Given the description of an element on the screen output the (x, y) to click on. 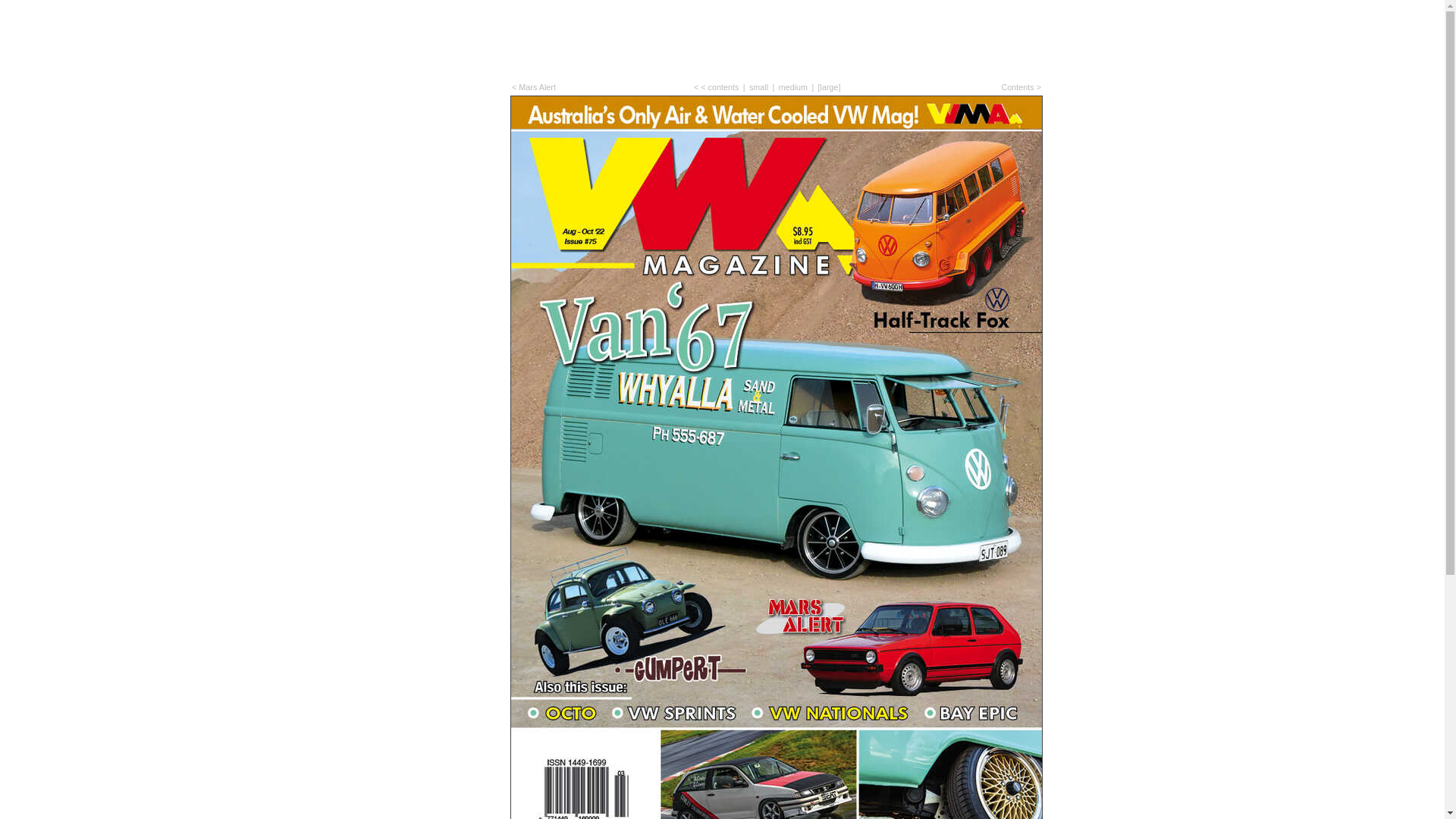
[large] Element type: text (829, 86)
medium Element type: text (793, 86)
Contents > Element type: text (1020, 86)
< Mars Alert Element type: text (533, 86)
small Element type: text (758, 86)
< < contents Element type: text (716, 86)
